Given the description of an element on the screen output the (x, y) to click on. 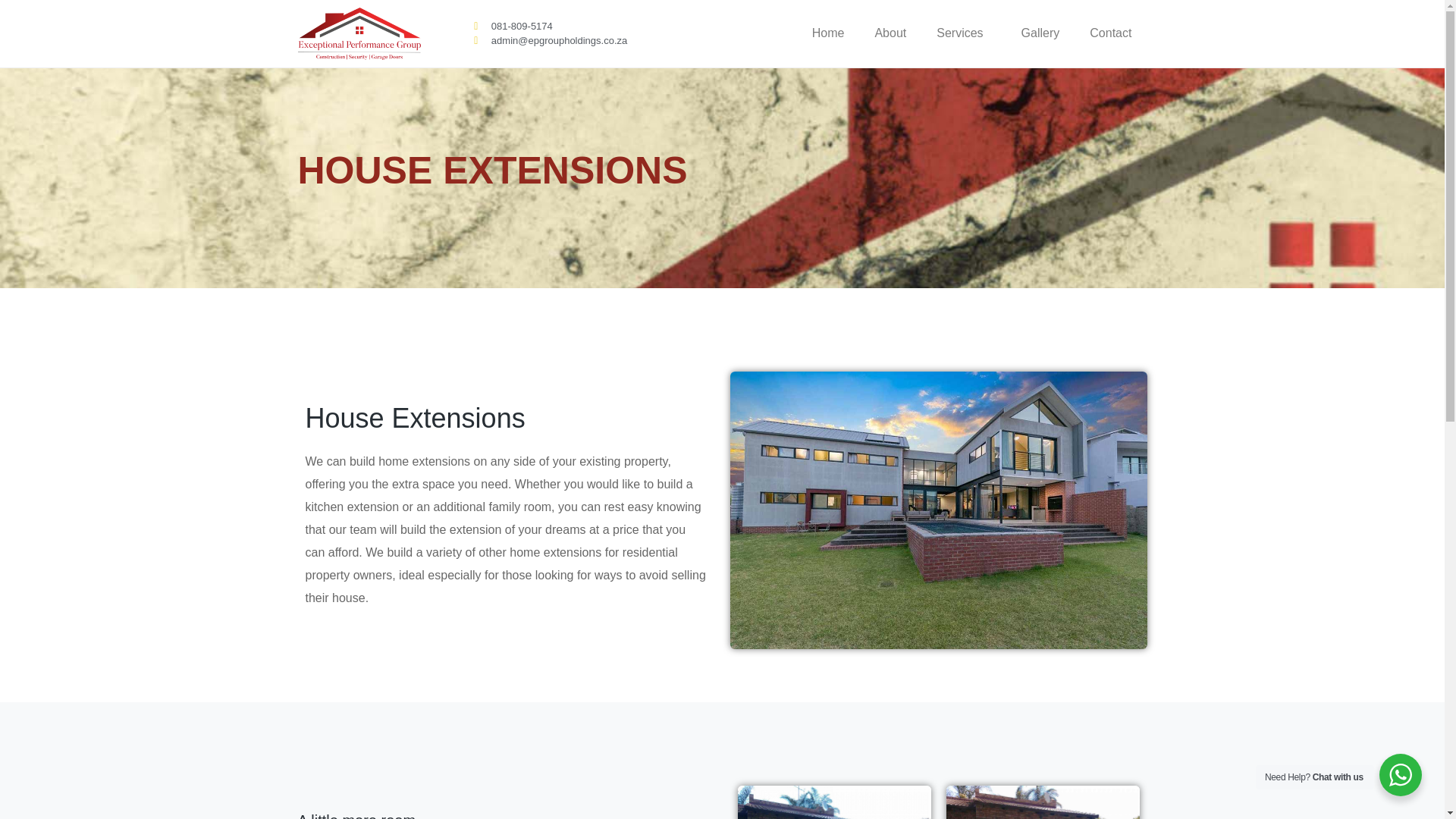
Home (828, 32)
Services (963, 32)
Gallery (1040, 32)
About (890, 32)
Contact (1110, 32)
